Given the description of an element on the screen output the (x, y) to click on. 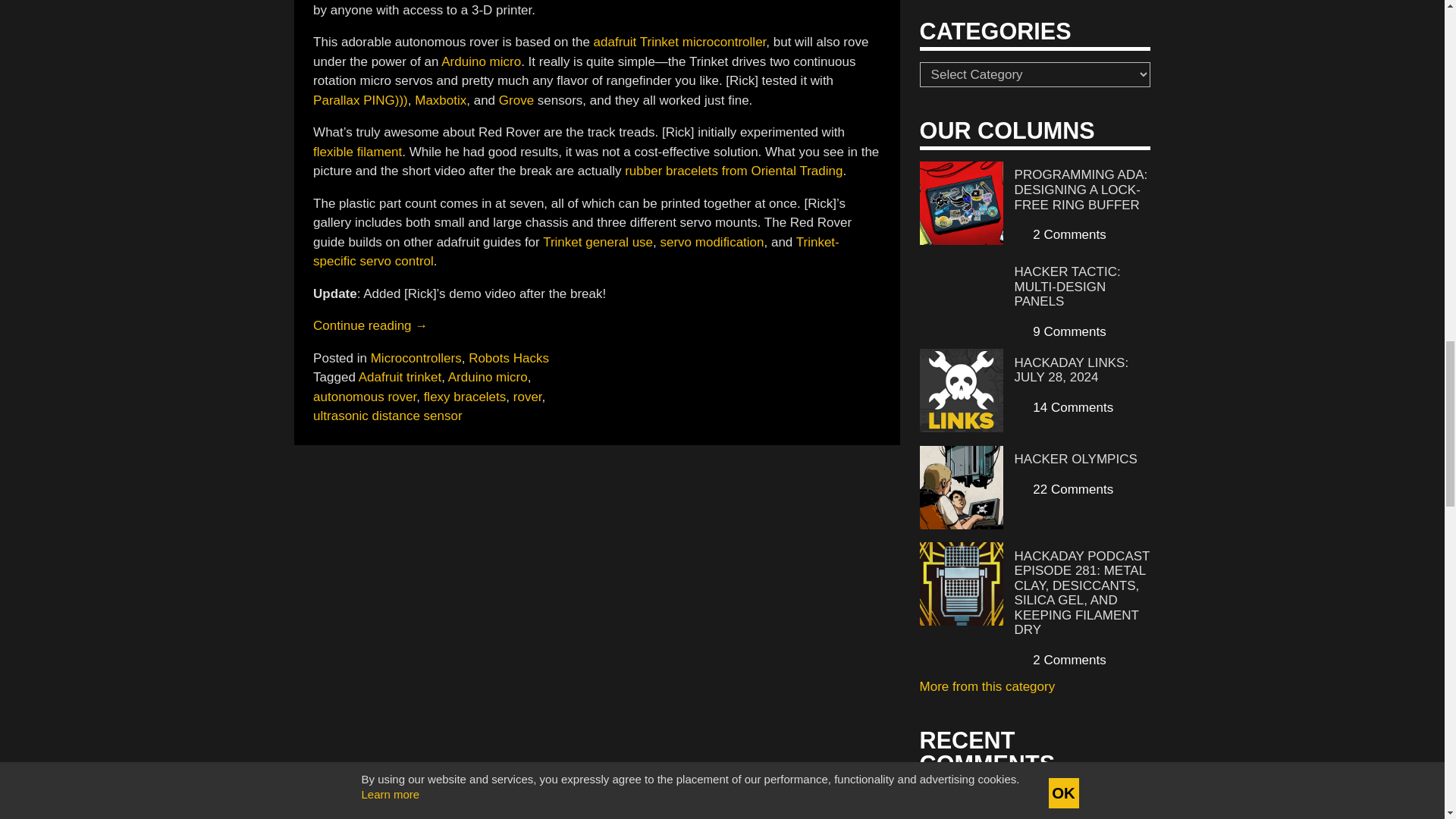
Maxbotix (439, 100)
adafruit Trinket microcontroller (680, 42)
Arduino micro (481, 61)
Grove (516, 100)
